Given the description of an element on the screen output the (x, y) to click on. 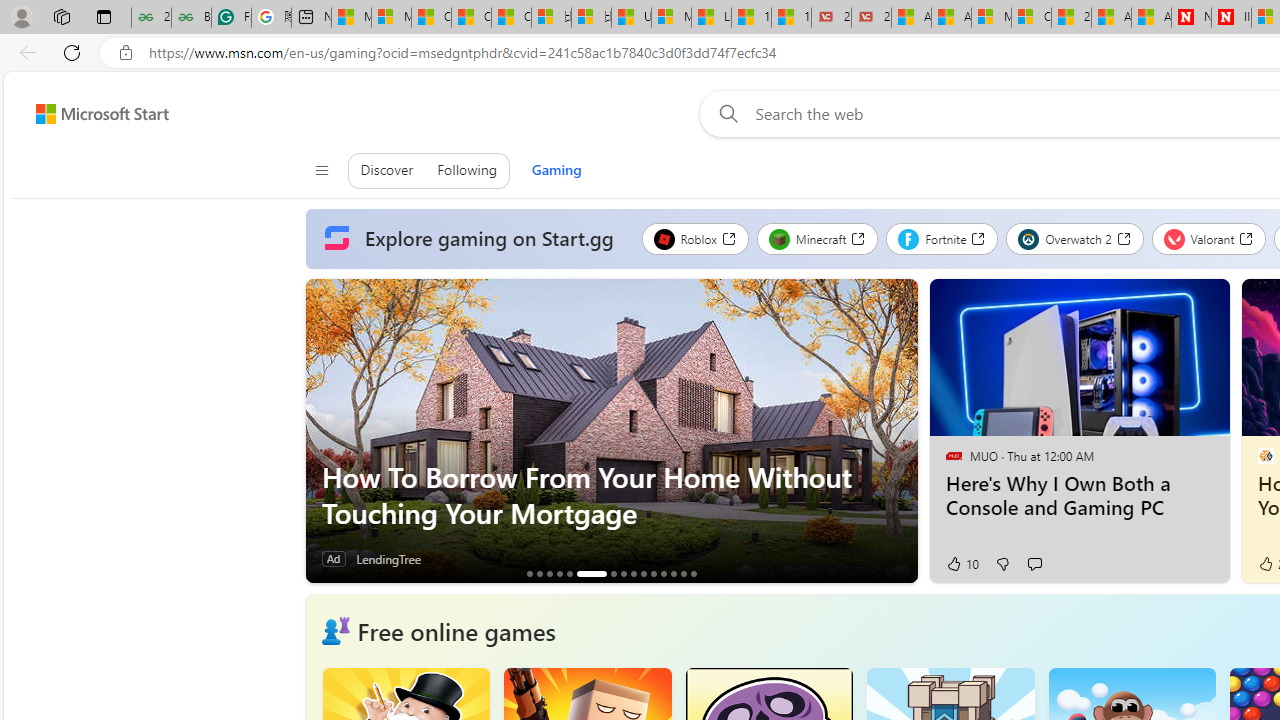
AutomationID: tab_nativead-infopane-14 (683, 573)
Next slide (902, 431)
Gaming (555, 169)
10 Like (961, 564)
MUO (953, 455)
Overwatch 2 (1075, 238)
CYGNI: All Guns Blazing | Official Launch Trailer (559, 573)
